Given the description of an element on the screen output the (x, y) to click on. 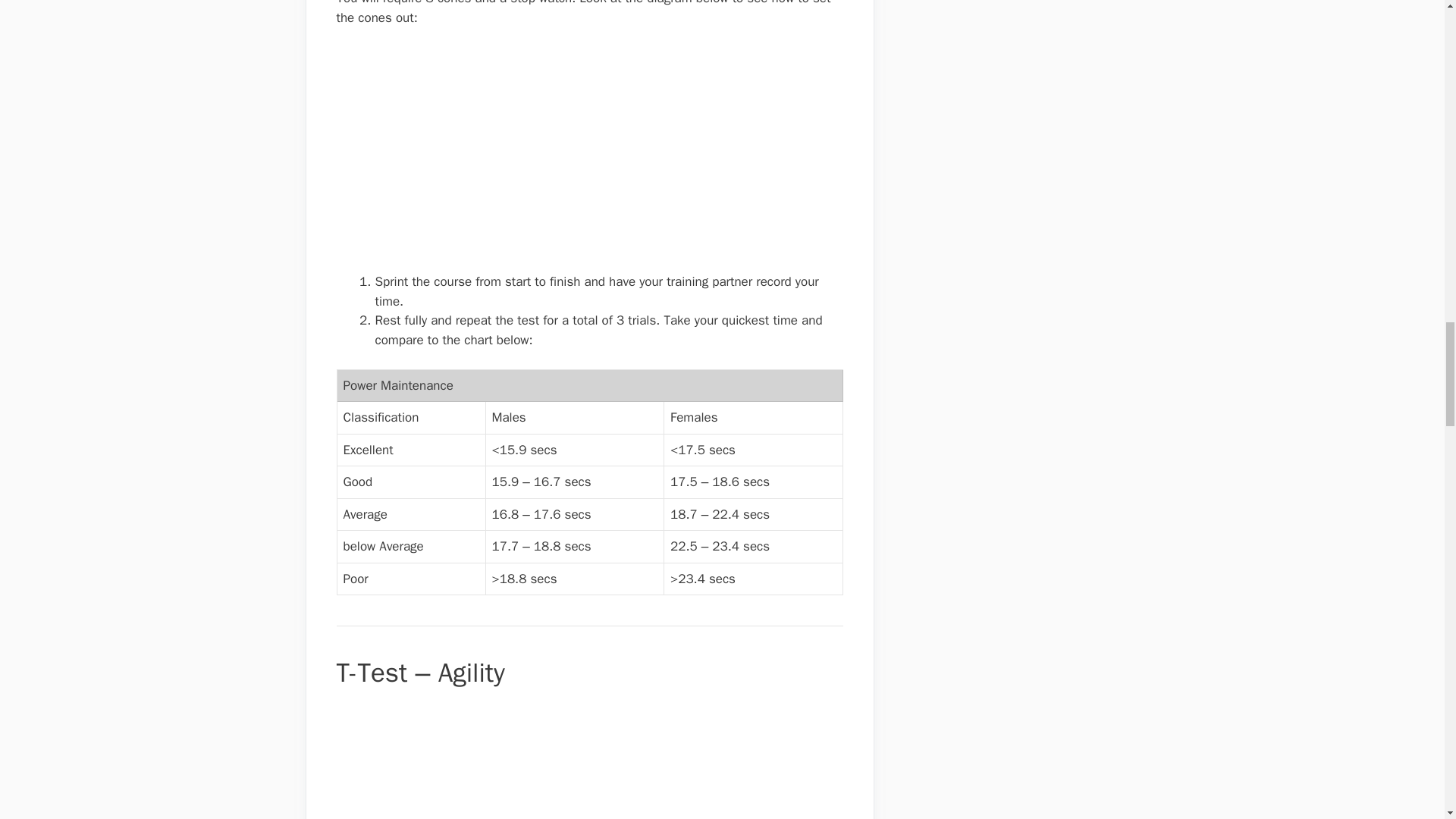
T Test (411, 761)
Speed And Power Tests 2 (512, 156)
